Given the description of an element on the screen output the (x, y) to click on. 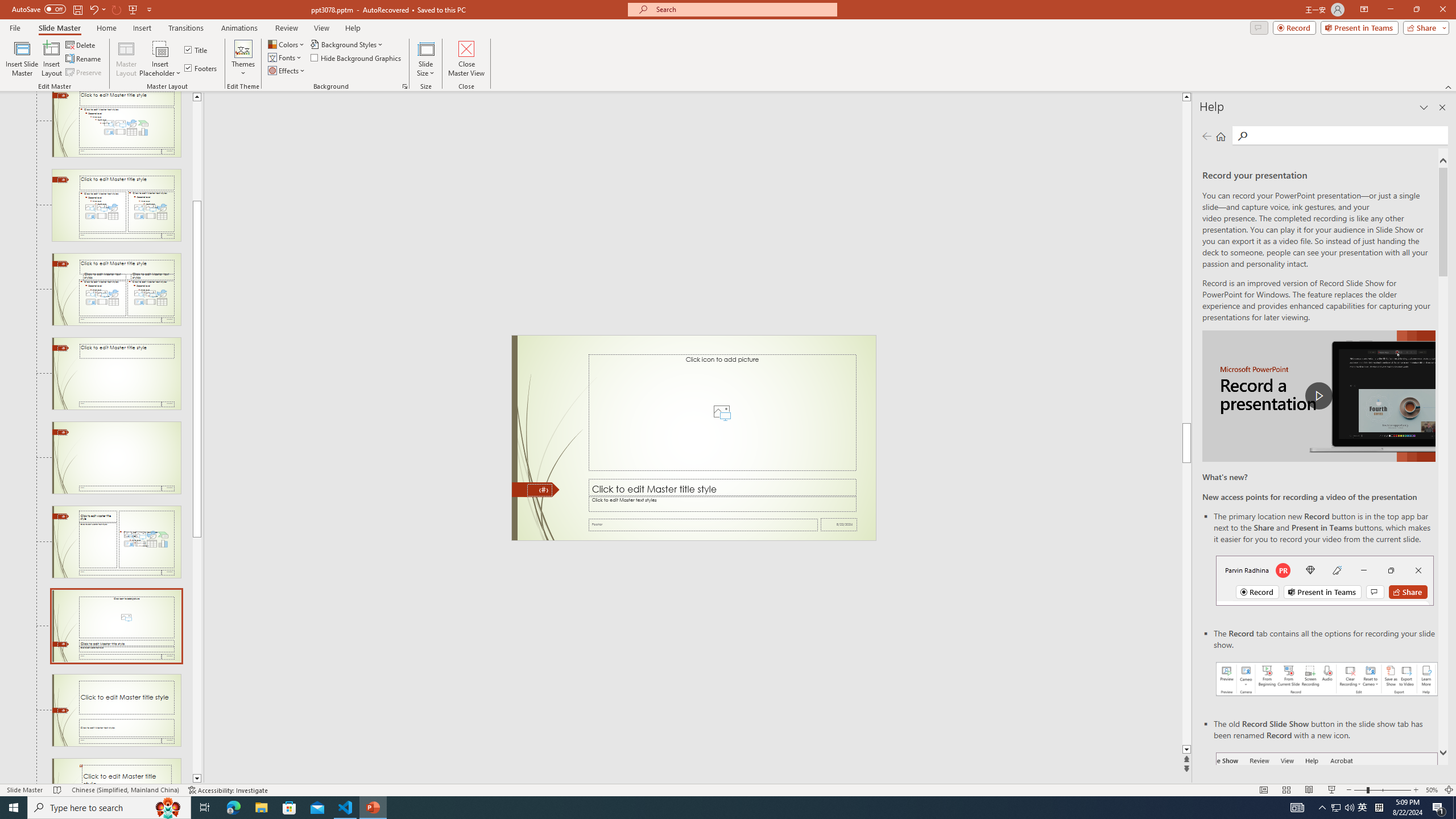
Title (196, 49)
Colors (287, 44)
Slide Title and Caption Layout: used by no slides (116, 710)
Preserve (84, 72)
Slide Two Content Layout: used by no slides (116, 204)
TextBox (722, 503)
